Given the description of an element on the screen output the (x, y) to click on. 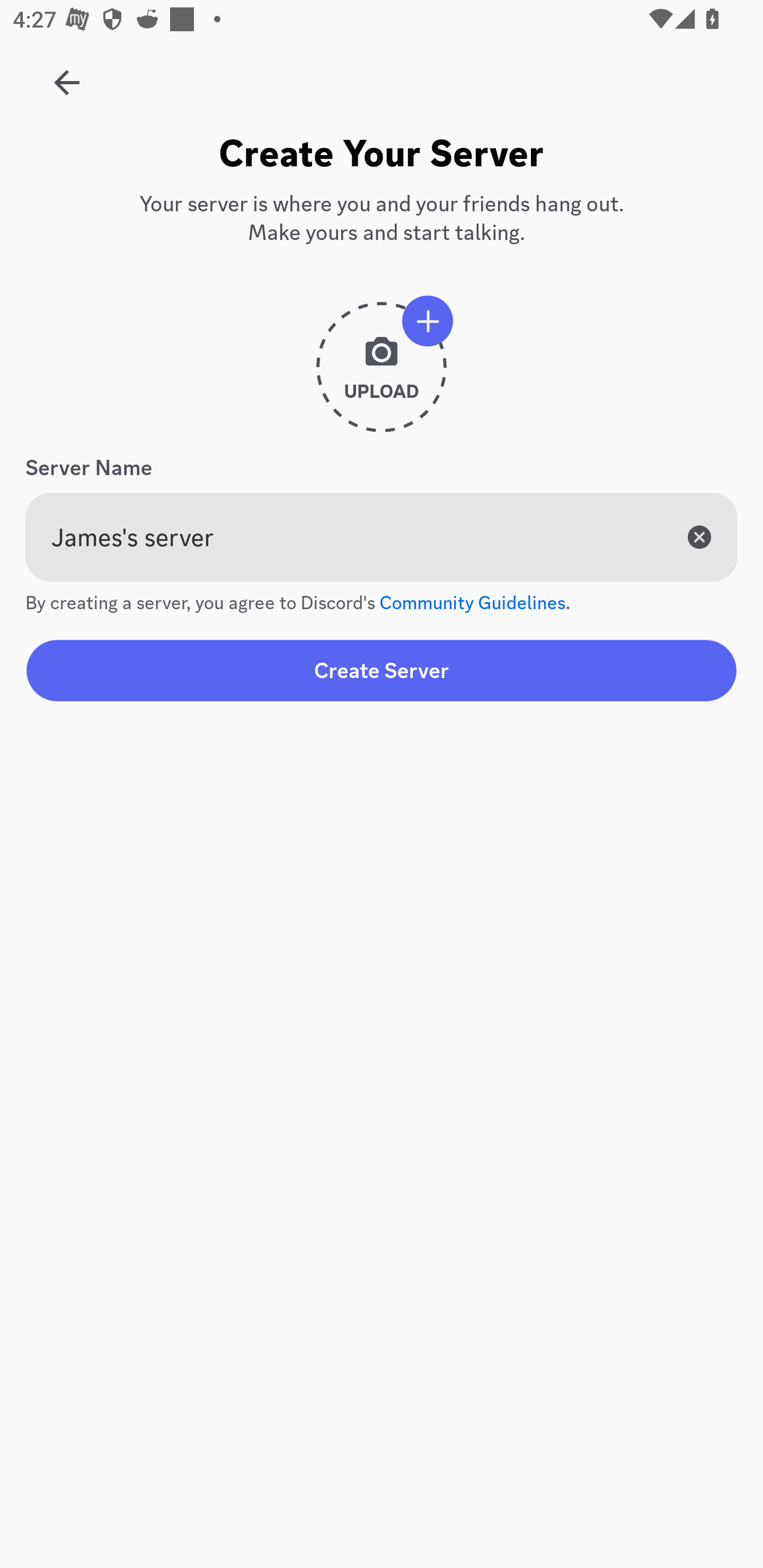
  Friends F (66, 75)
Search (373, 165)
Upload Image UPLOAD (381, 373)
James's server (381, 536)
Create Server (381, 670)
